Given the description of an element on the screen output the (x, y) to click on. 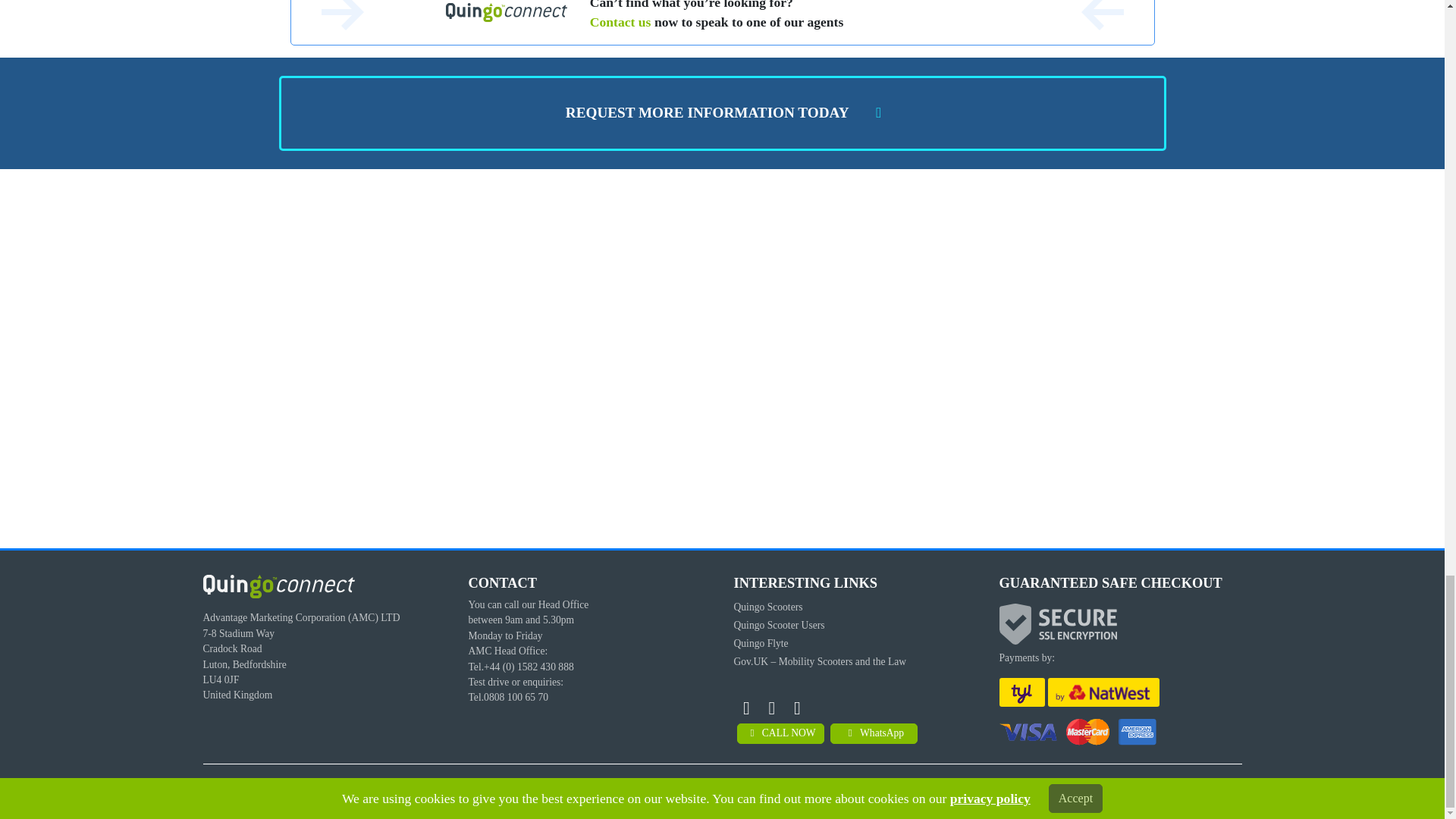
Twitter (797, 708)
YouTube (746, 708)
Call Now (873, 733)
Quingo Scooters (768, 606)
Quingo Scooter Users (779, 624)
Facebook (771, 708)
Contact us (619, 21)
Quingo Flyte (761, 643)
REQUEST MORE INFORMATION TODAY (722, 113)
Call Now (780, 733)
